Given the description of an element on the screen output the (x, y) to click on. 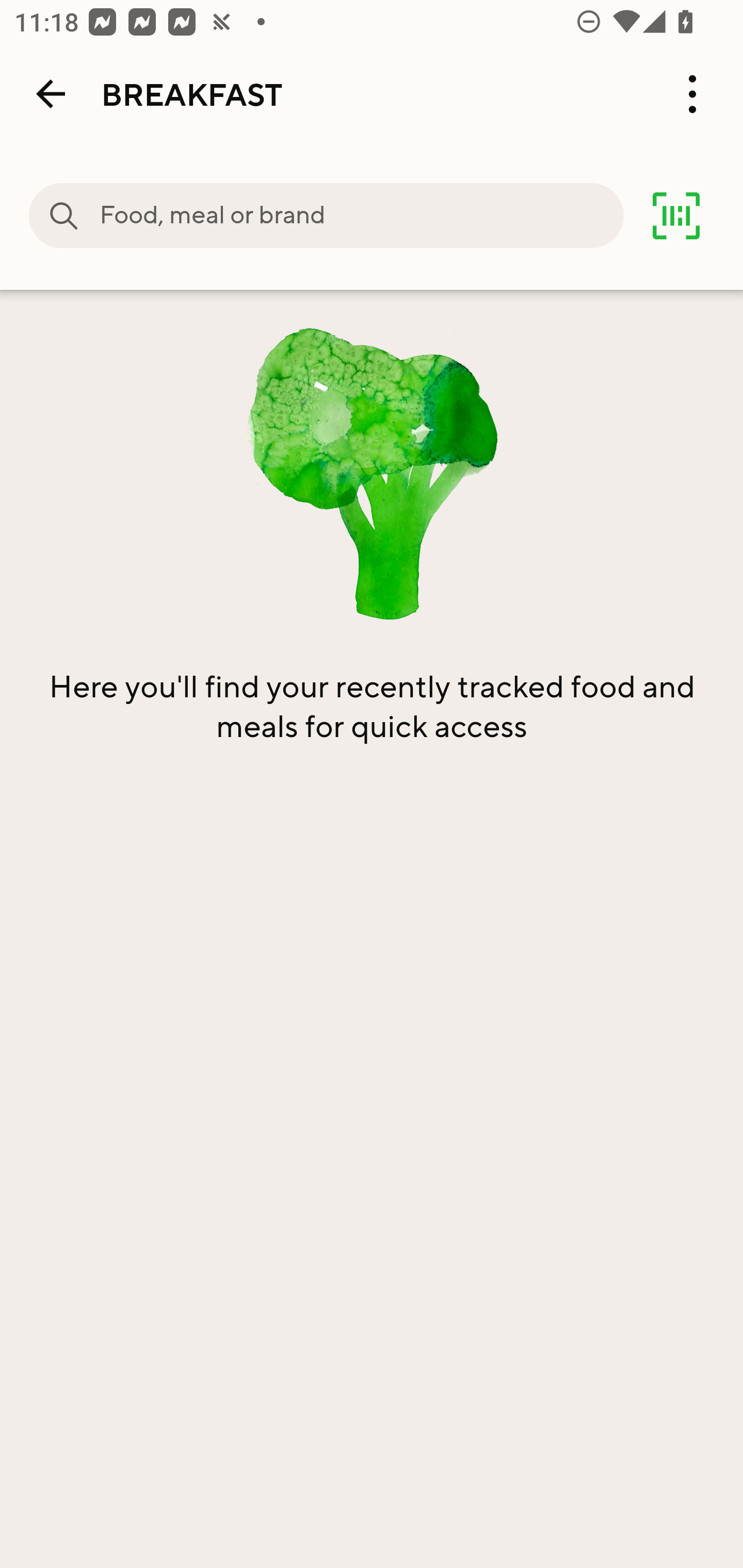
Back (50, 93)
Food, meal or brand (63, 215)
Food, meal or brand (361, 215)
